Given the description of an element on the screen output the (x, y) to click on. 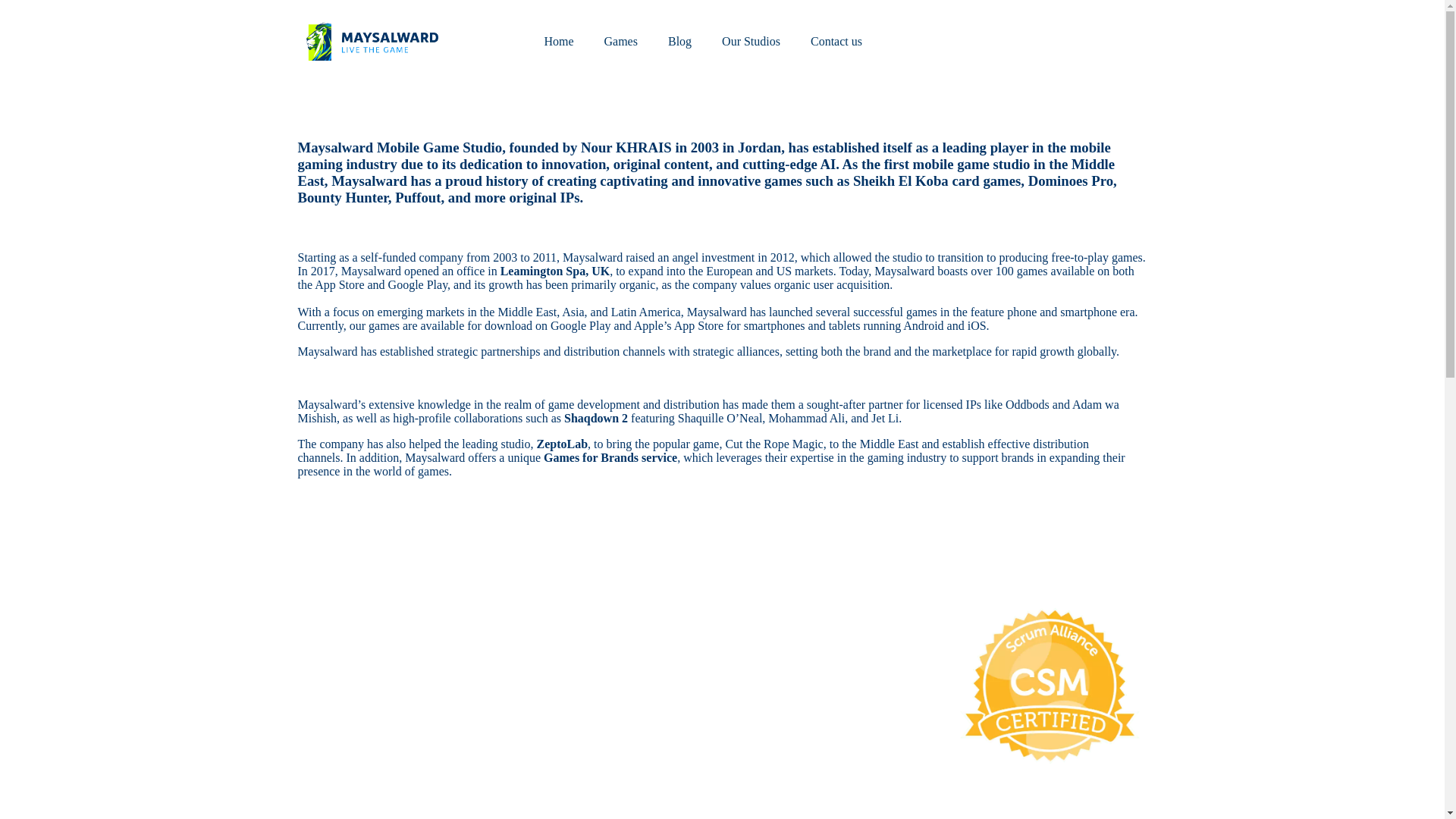
Shaqdown 2 (597, 418)
Contact us (835, 41)
Home (558, 41)
ZeptoLab (561, 443)
Blog (679, 41)
Games for Brands service (610, 457)
Our Studios (750, 41)
Leamington Spa, UK (555, 270)
Games (620, 41)
